Given the description of an element on the screen output the (x, y) to click on. 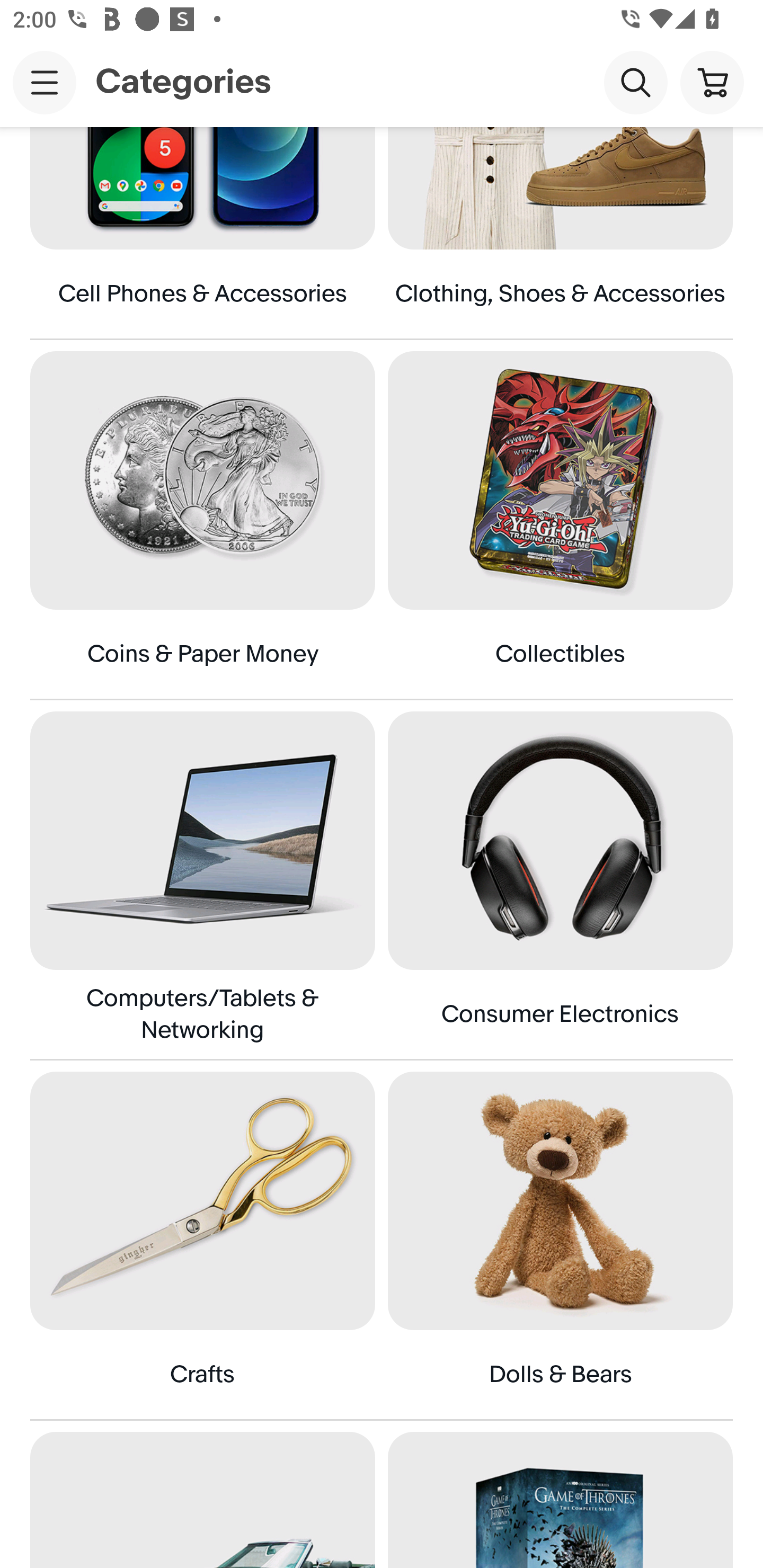
Main navigation, open (44, 82)
Search (635, 81)
Cart button shopping cart (711, 81)
Cell Phones & Accessories (202, 232)
Clothing, Shoes & Accessories (559, 232)
Coins & Paper Money (202, 525)
Collectibles (559, 525)
Computers/Tablets & Networking (202, 884)
Consumer Electronics (559, 884)
Crafts (202, 1244)
Dolls & Bears (559, 1244)
